Given the description of an element on the screen output the (x, y) to click on. 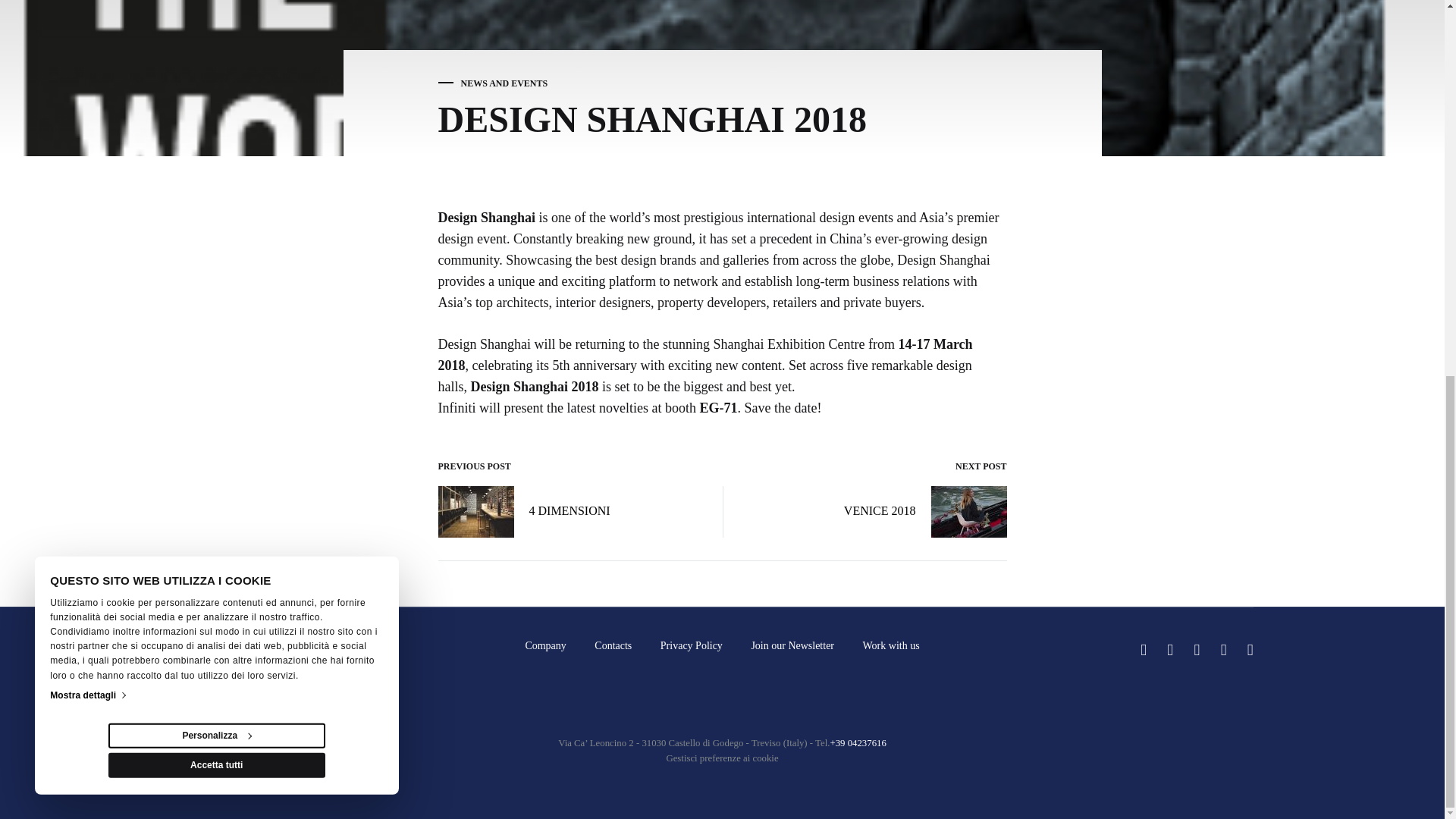
Mostra dettagli (86, 5)
